Given the description of an element on the screen output the (x, y) to click on. 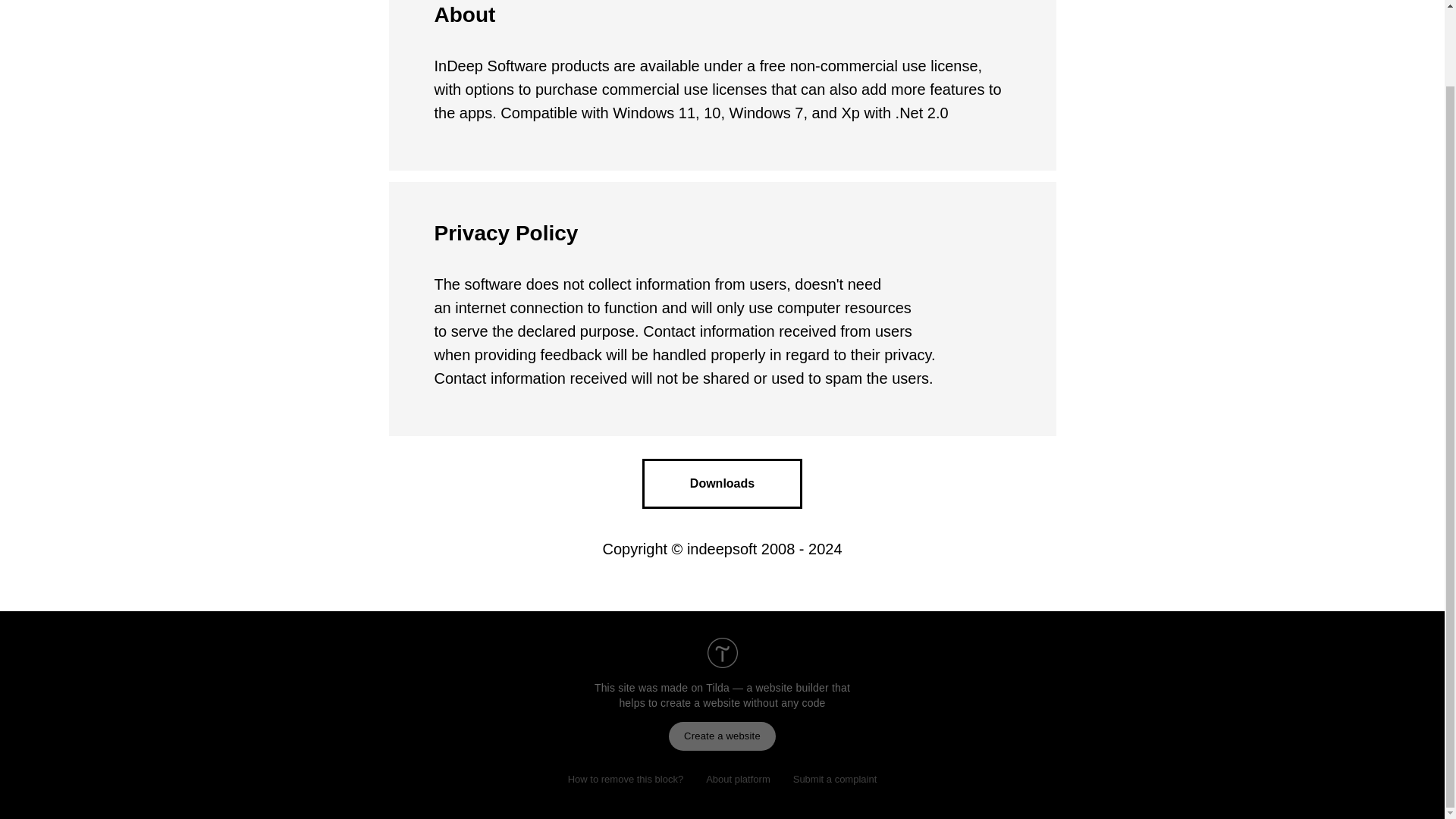
How to remove this block? (625, 778)
Create a website (722, 736)
Downloads (722, 483)
Submit a complaint (834, 778)
About platform (737, 778)
